Given the description of an element on the screen output the (x, y) to click on. 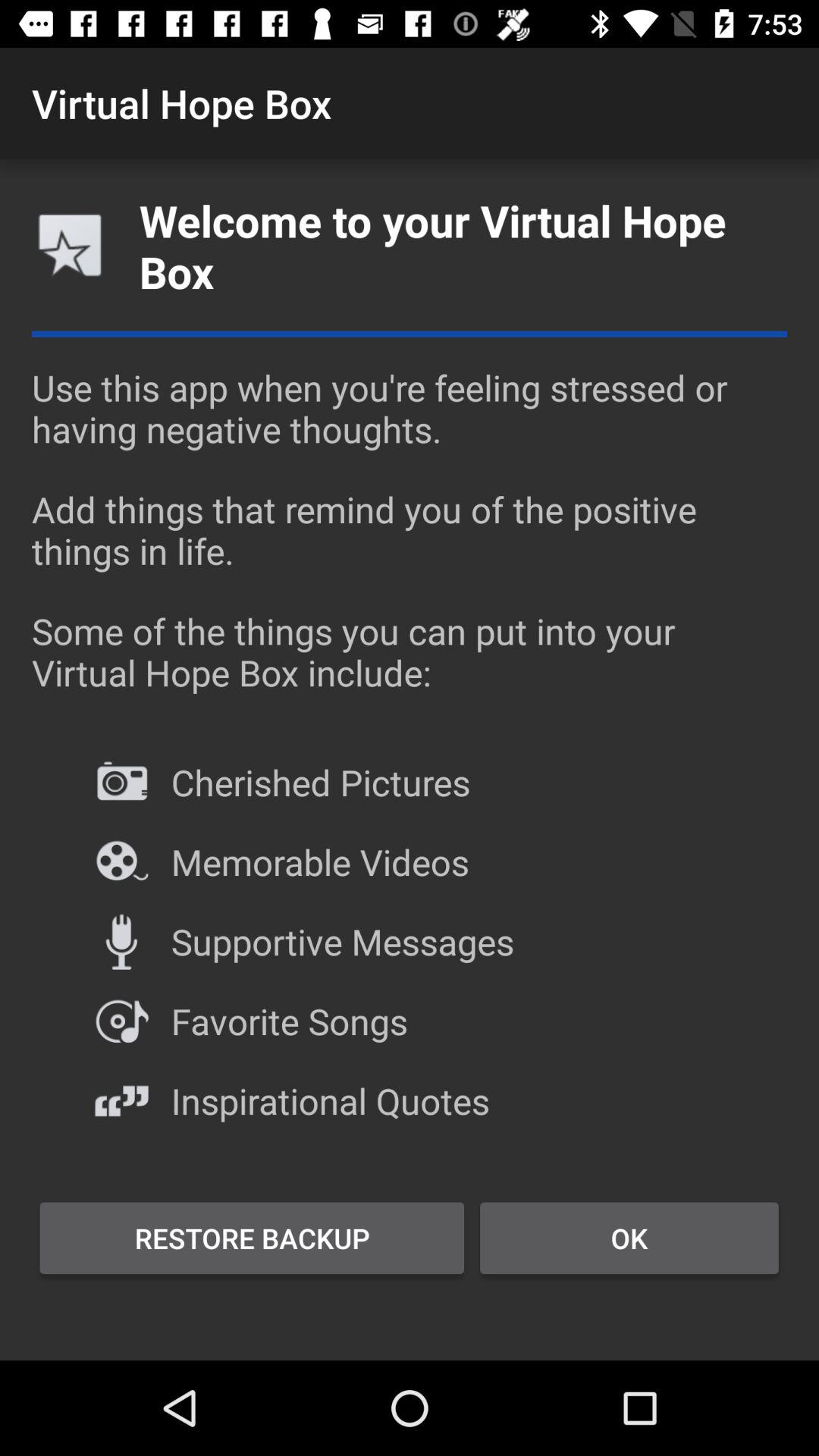
scroll to ok icon (629, 1237)
